Given the description of an element on the screen output the (x, y) to click on. 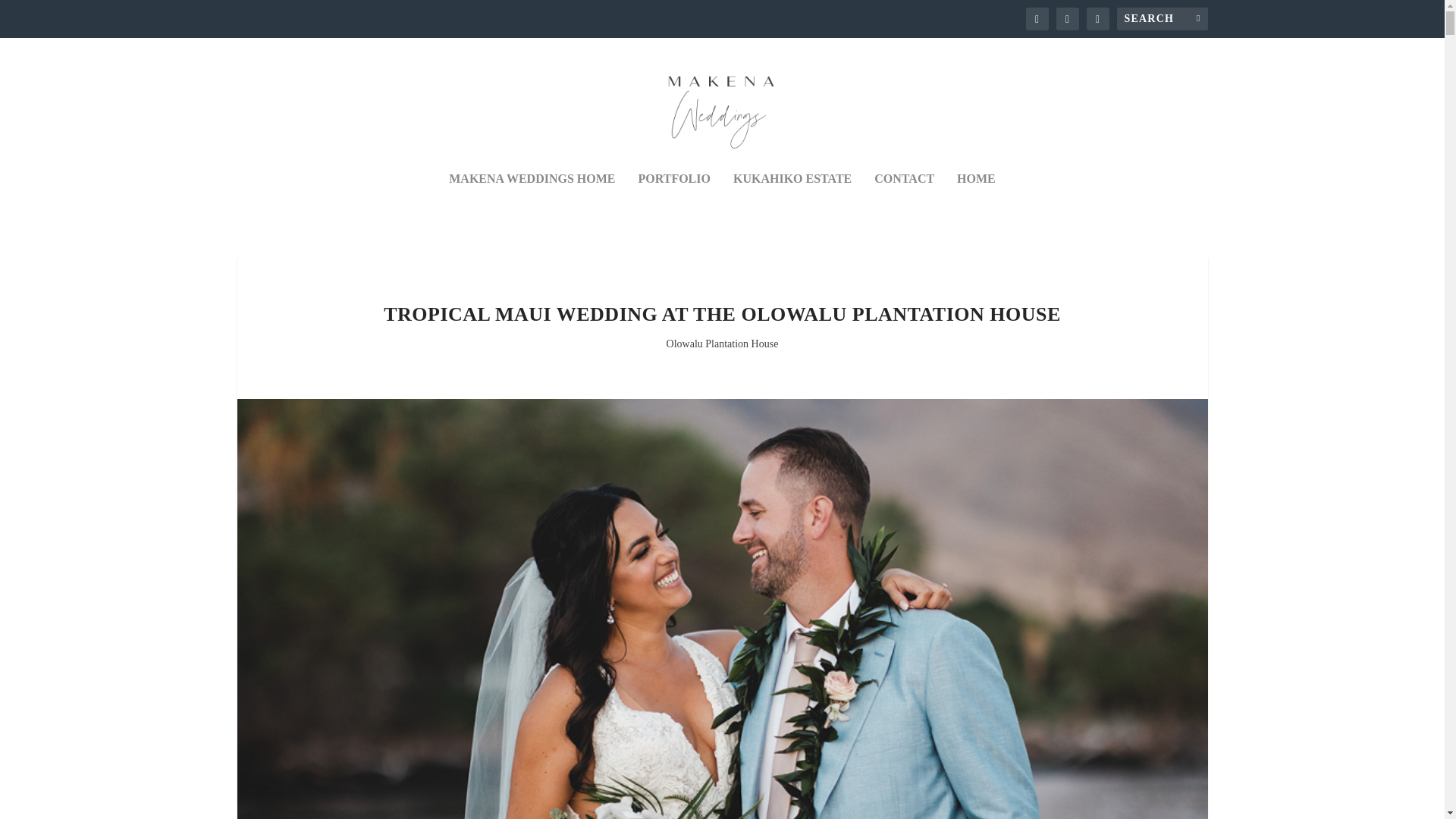
Search for: (1161, 18)
CONTACT (904, 199)
KUKAHIKO ESTATE (792, 199)
Olowalu Plantation House (722, 343)
PORTFOLIO (674, 199)
MAKENA WEDDINGS HOME (531, 199)
